Given the description of an element on the screen output the (x, y) to click on. 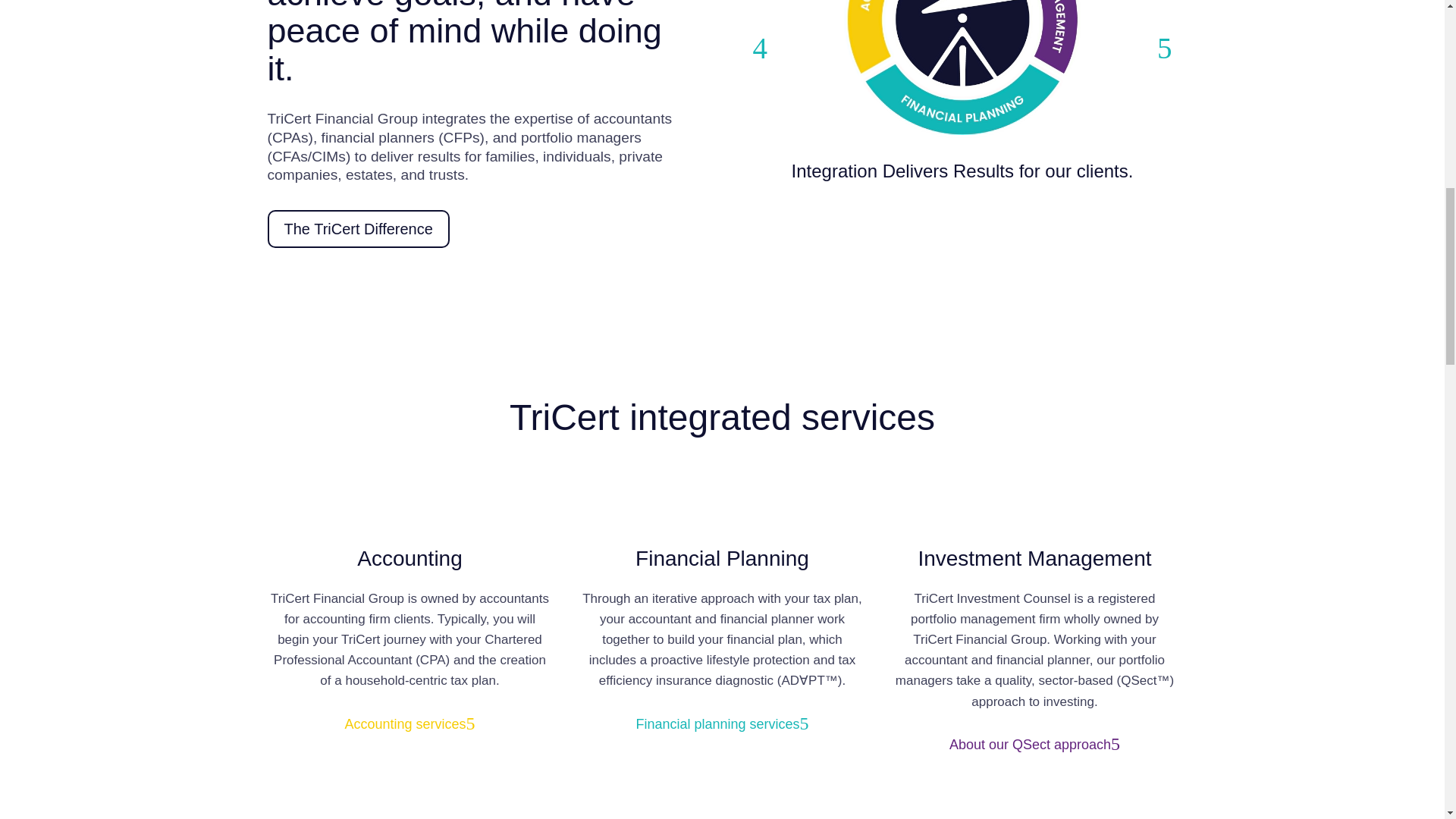
The TriCert Difference (722, 724)
